Given the description of an element on the screen output the (x, y) to click on. 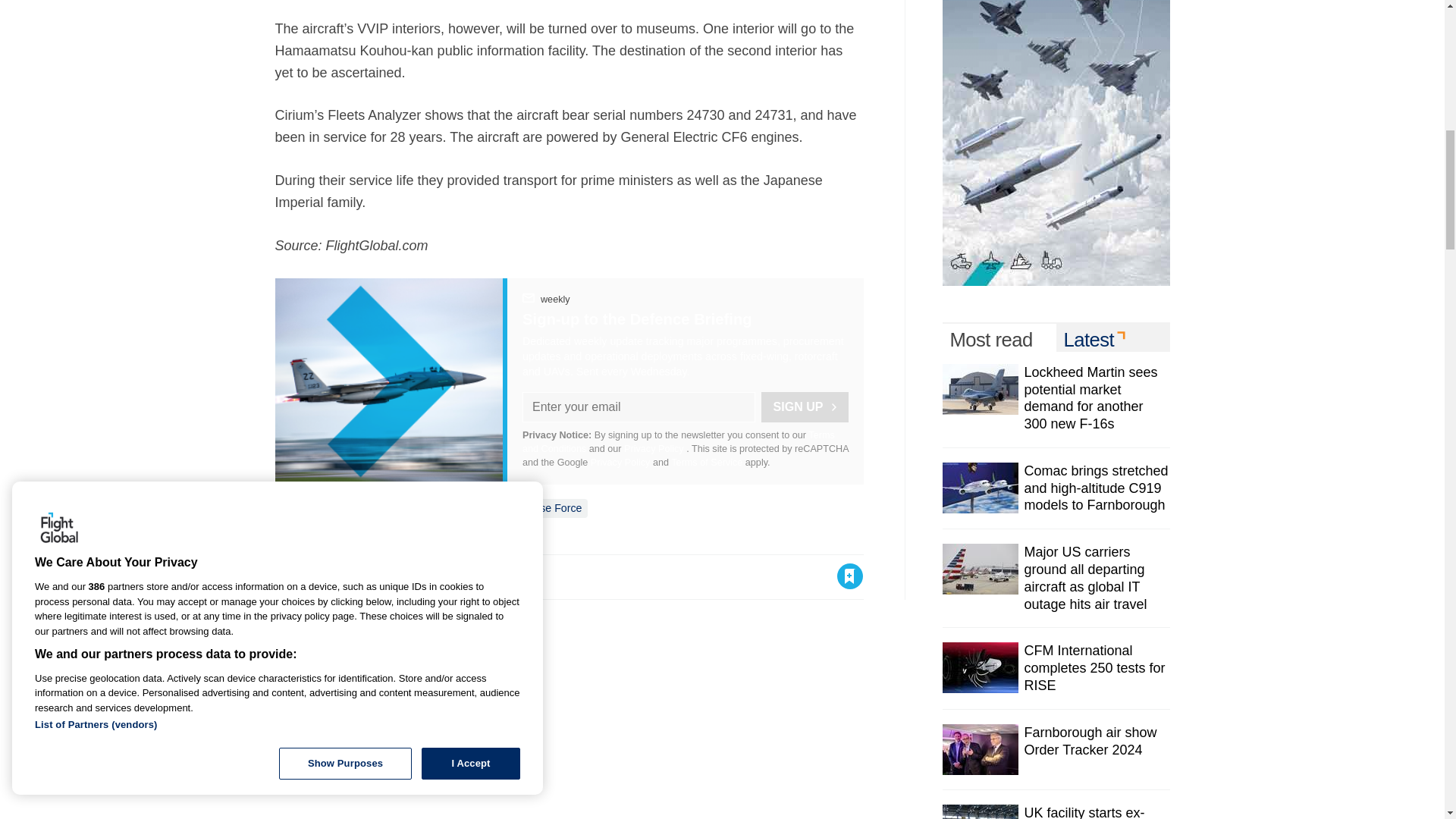
Share this on Linked in (352, 575)
Share this on Twitter (320, 575)
Email this article (386, 575)
Share this on Facebook (288, 575)
